Given the description of an element on the screen output the (x, y) to click on. 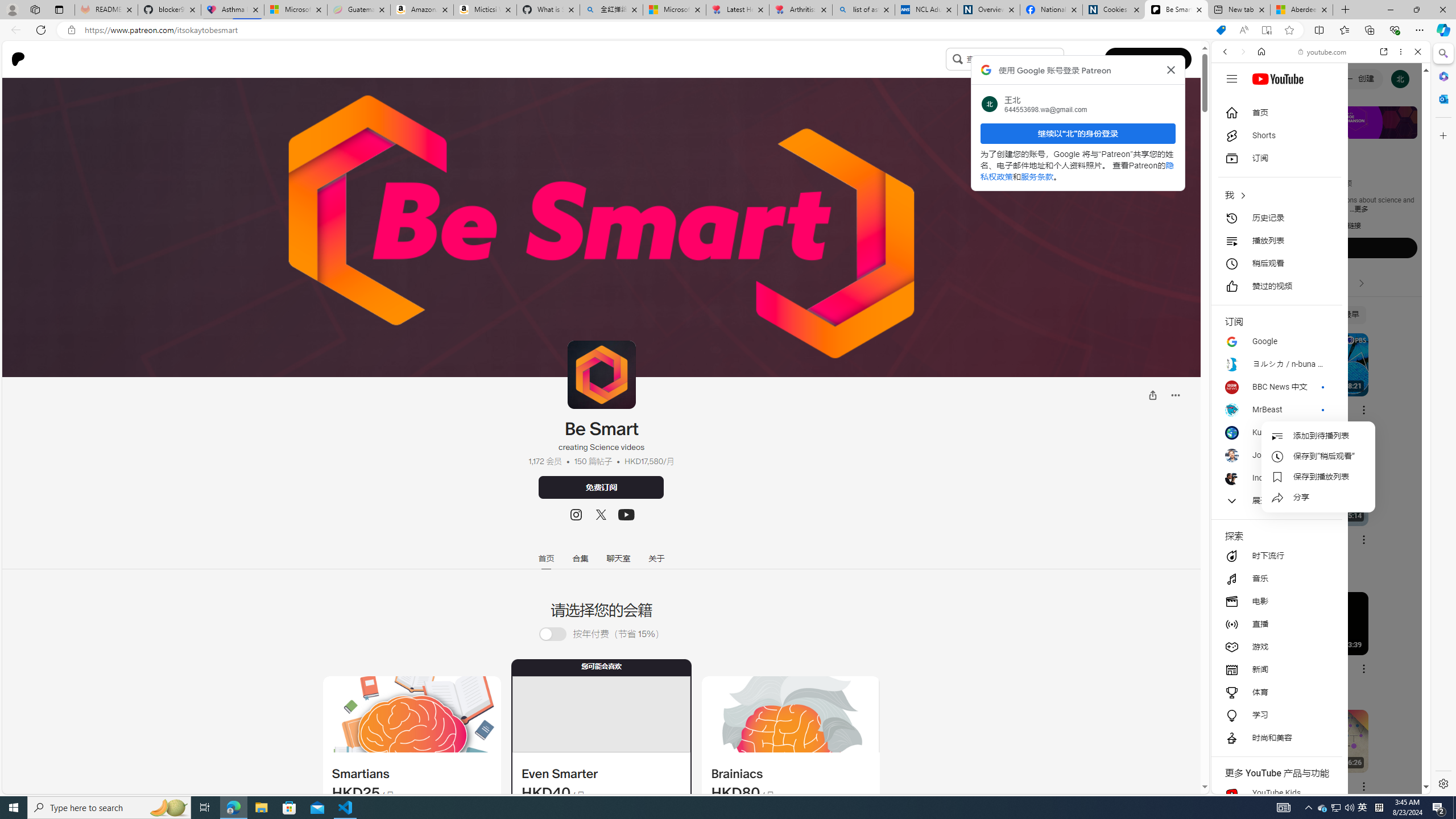
Actions for this site (1371, 661)
